Given the description of an element on the screen output the (x, y) to click on. 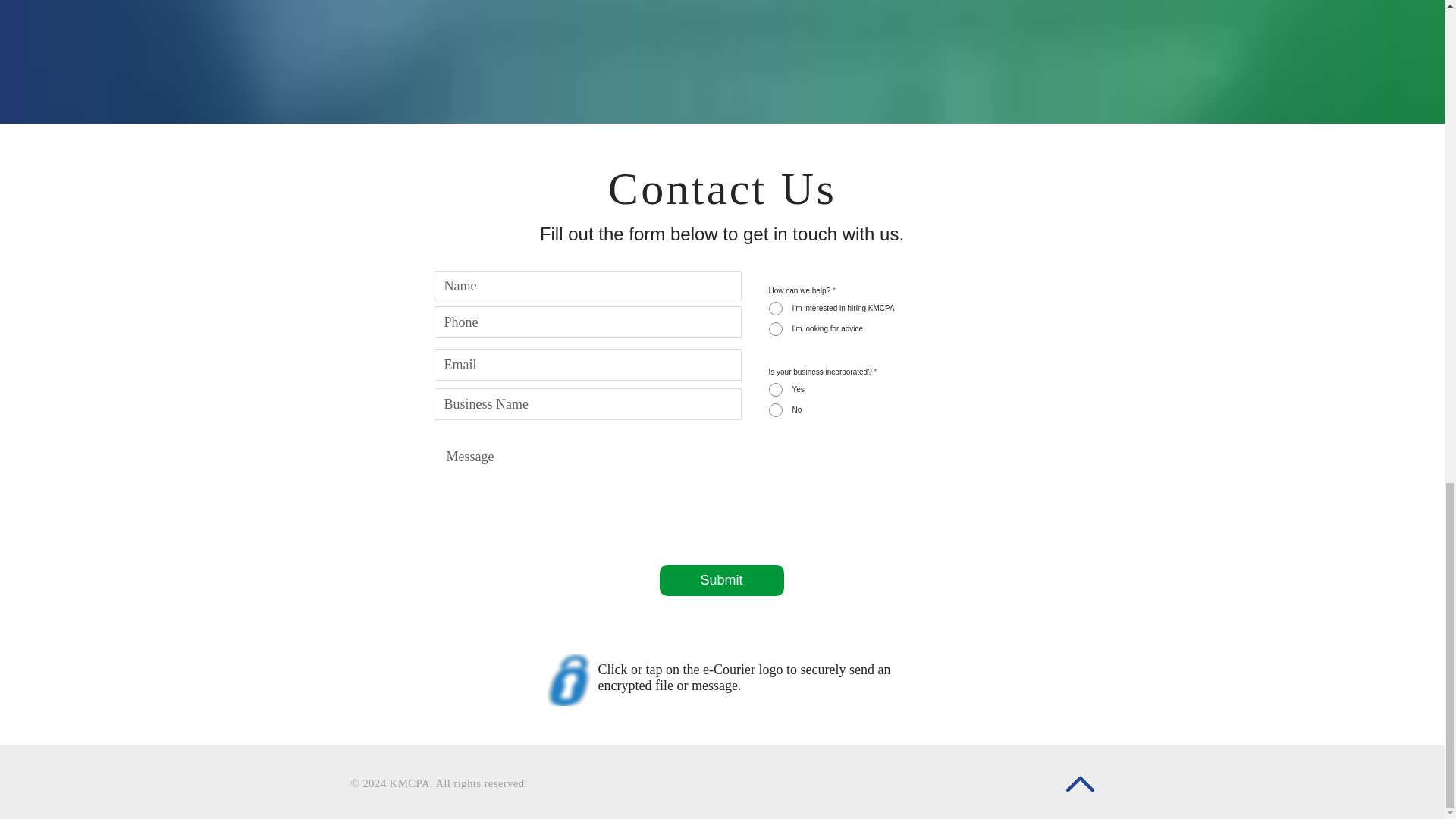
Submit (721, 580)
